Given the description of an element on the screen output the (x, y) to click on. 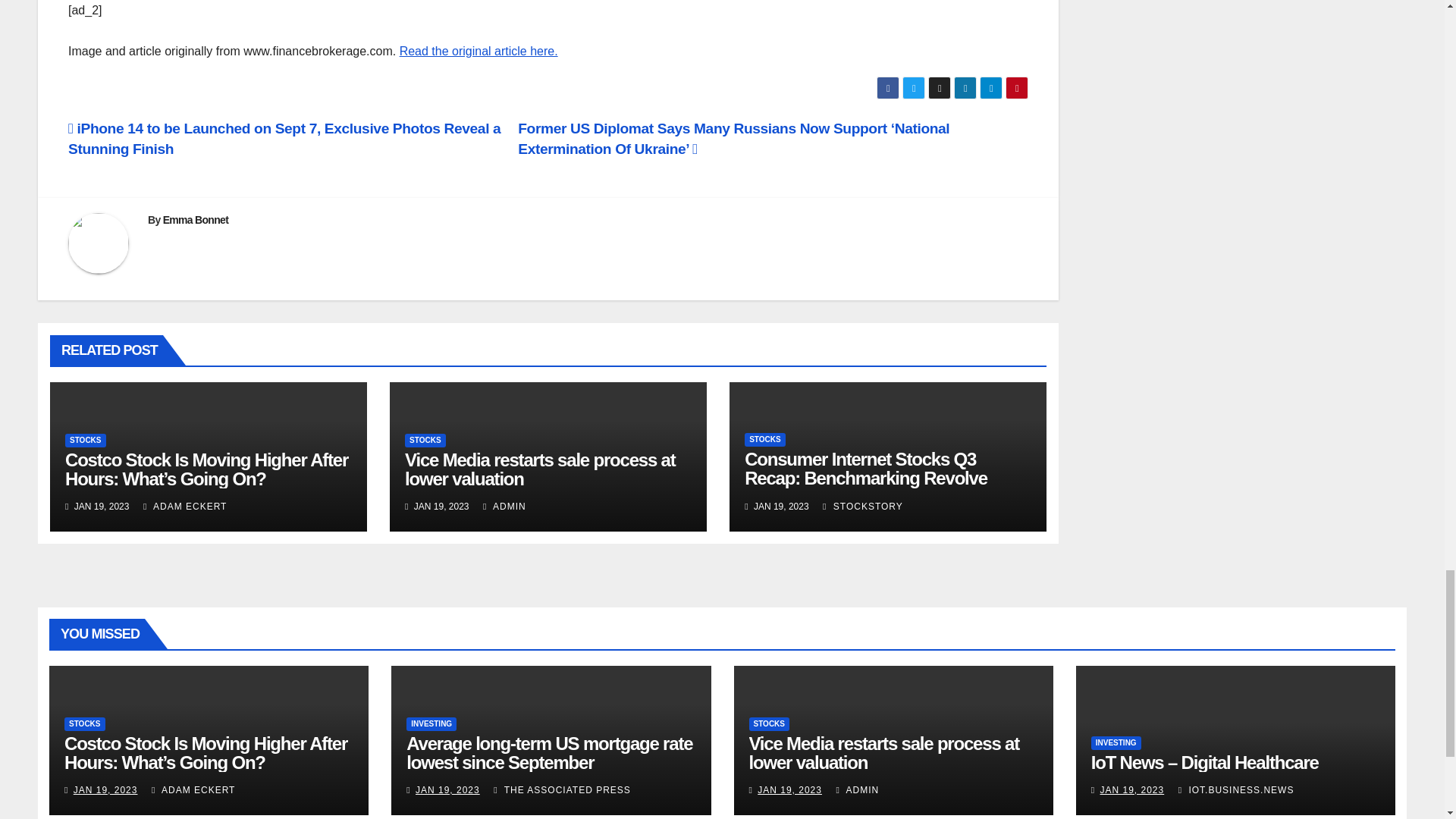
Vice Media restarts sale process at lower valuation (539, 468)
STOCKS (424, 440)
STOCKS (765, 439)
ADAM ECKERT (184, 506)
ADMIN (504, 506)
Read the original article here. (477, 51)
